Given the description of an element on the screen output the (x, y) to click on. 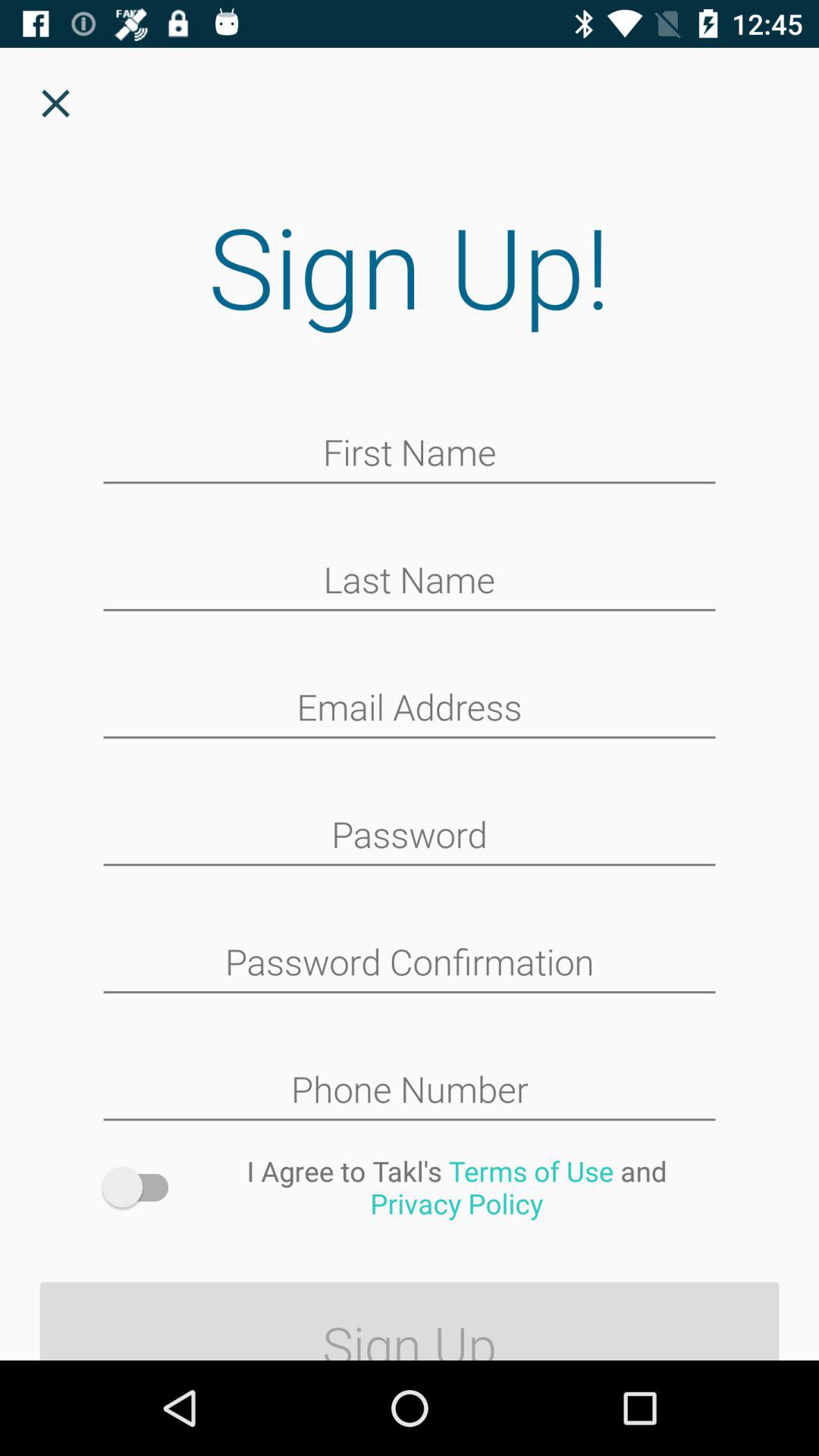
click i agree to (456, 1187)
